Given the description of an element on the screen output the (x, y) to click on. 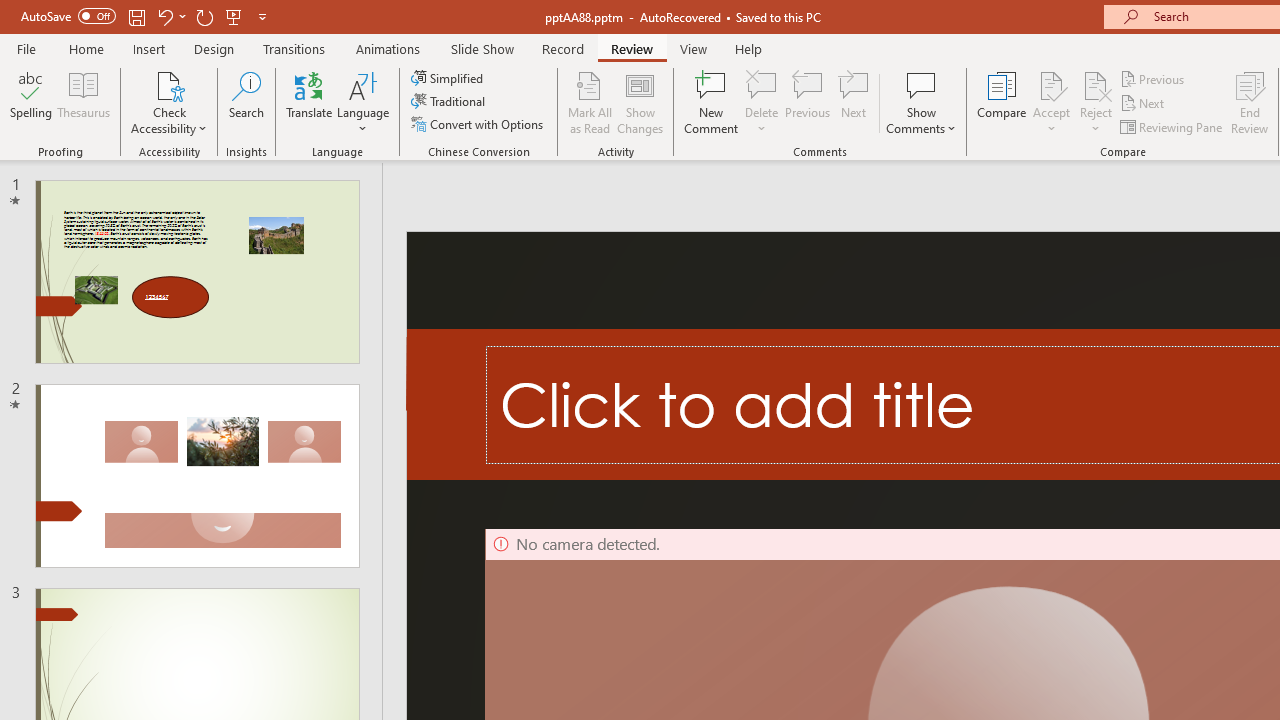
New Comment (711, 102)
Mark All as Read (589, 102)
Reviewing Pane (1172, 126)
